Given the description of an element on the screen output the (x, y) to click on. 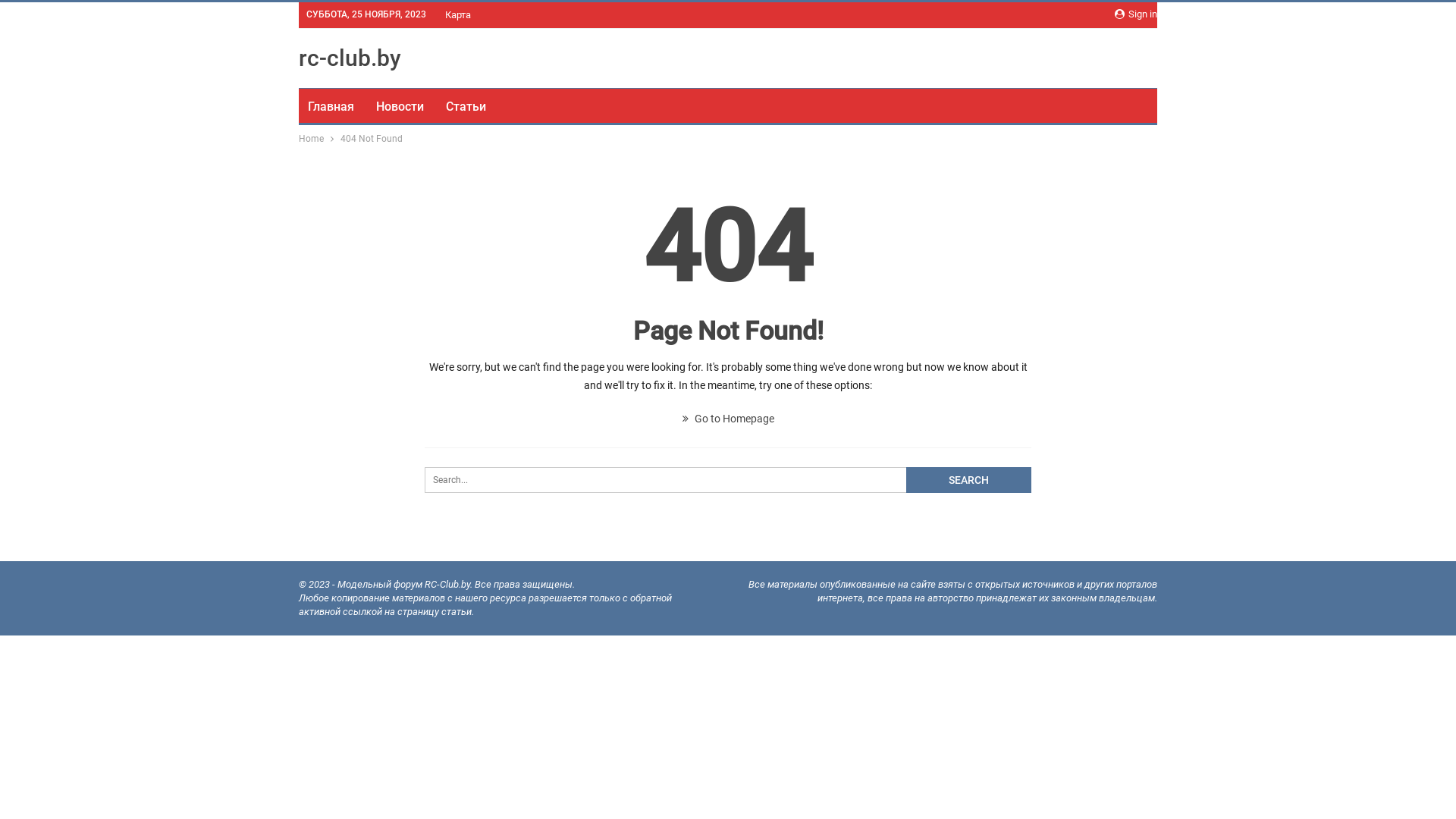
Sign in Element type: text (1135, 14)
Search Element type: text (968, 479)
Go to Homepage Element type: text (728, 418)
Search for: Element type: hover (727, 479)
Home Element type: text (310, 138)
rc-club.by Element type: text (349, 57)
